Given the description of an element on the screen output the (x, y) to click on. 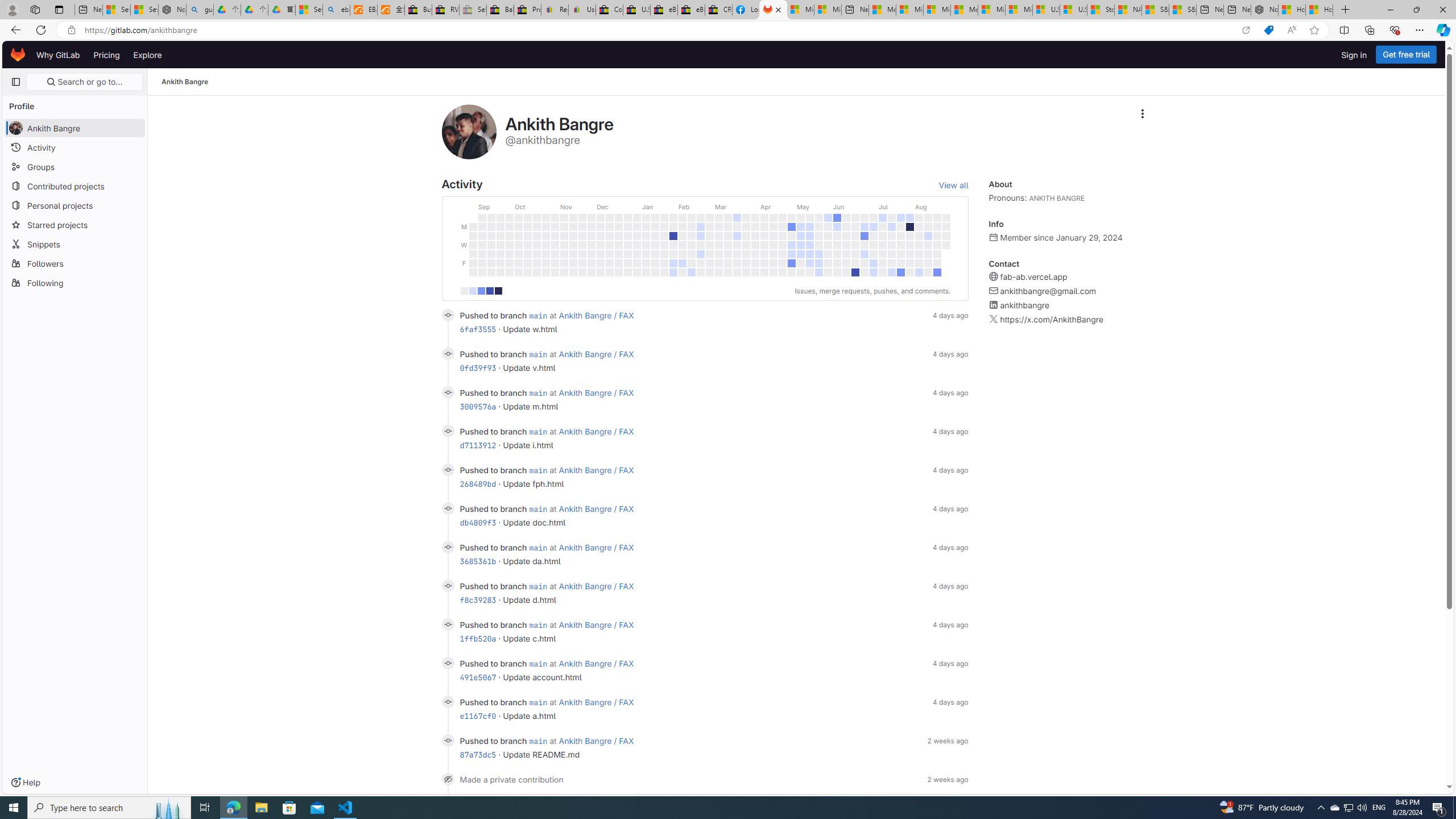
Help (25, 782)
Activity (74, 147)
